Given the description of an element on the screen output the (x, y) to click on. 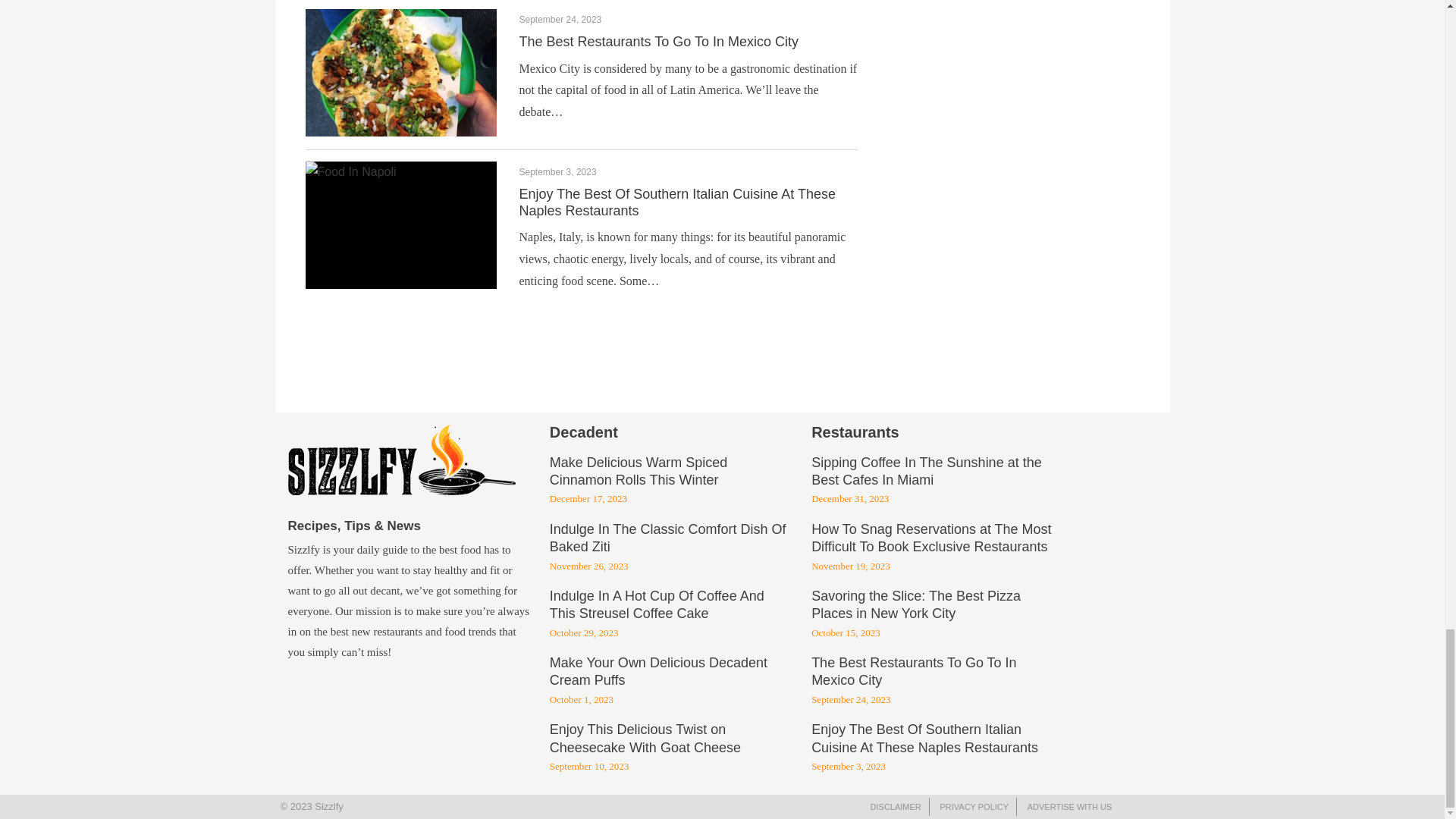
The Best Restaurants To Go To In Mexico City (657, 41)
Indulge In The Classic Comfort Dish Of Baked Ziti (668, 538)
Make Delicious Warm Spiced Cinnamon Rolls This Winter (638, 471)
